Given the description of an element on the screen output the (x, y) to click on. 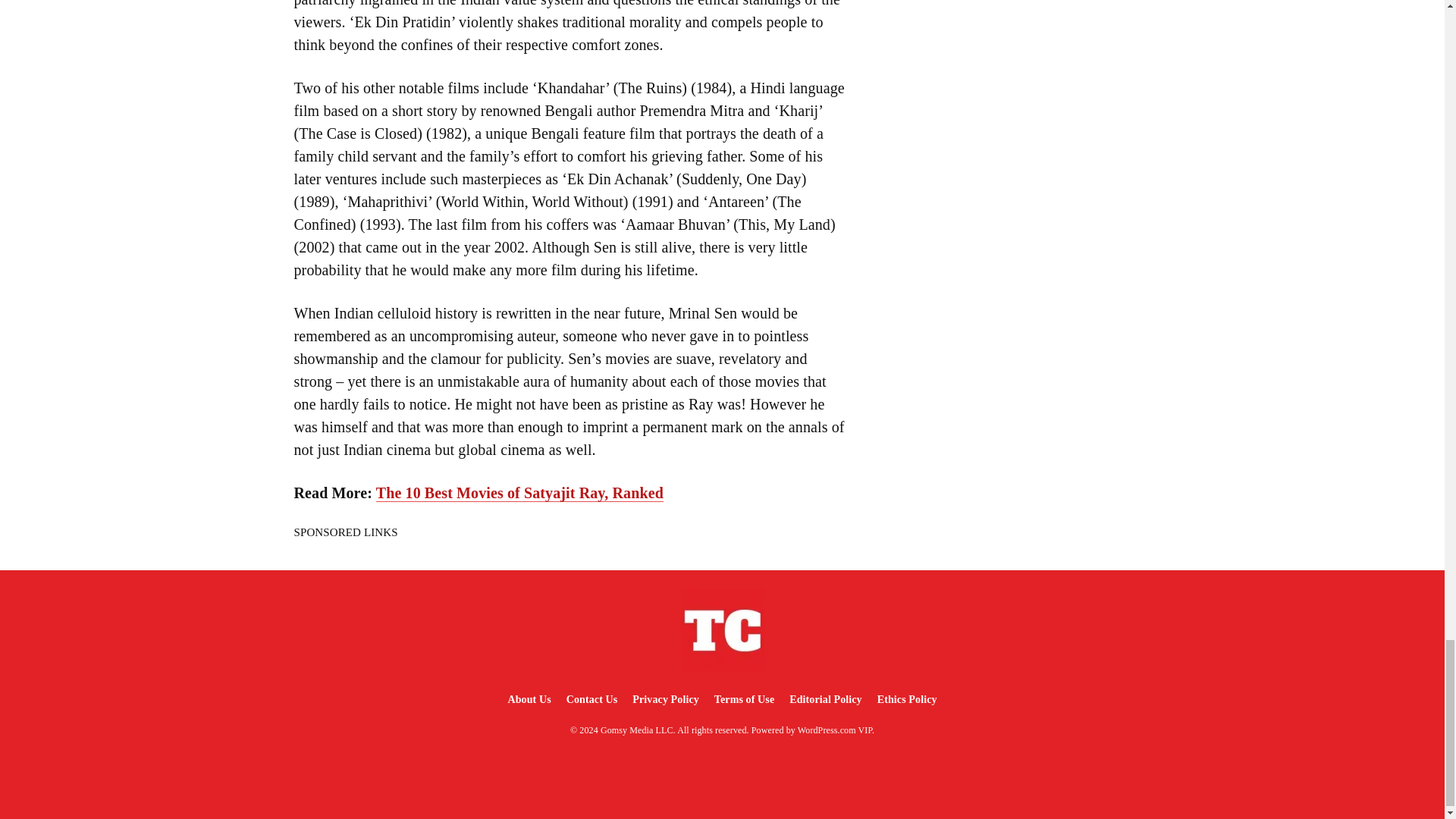
WordPress.com VIP (834, 729)
The 10 Best Movies of Satyajit Ray, Ranked (519, 493)
Contact Us (592, 699)
About Us (528, 699)
Editorial Policy (825, 699)
Privacy Policy (665, 699)
Terms of Use (743, 699)
Ethics Policy (906, 699)
